Given the description of an element on the screen output the (x, y) to click on. 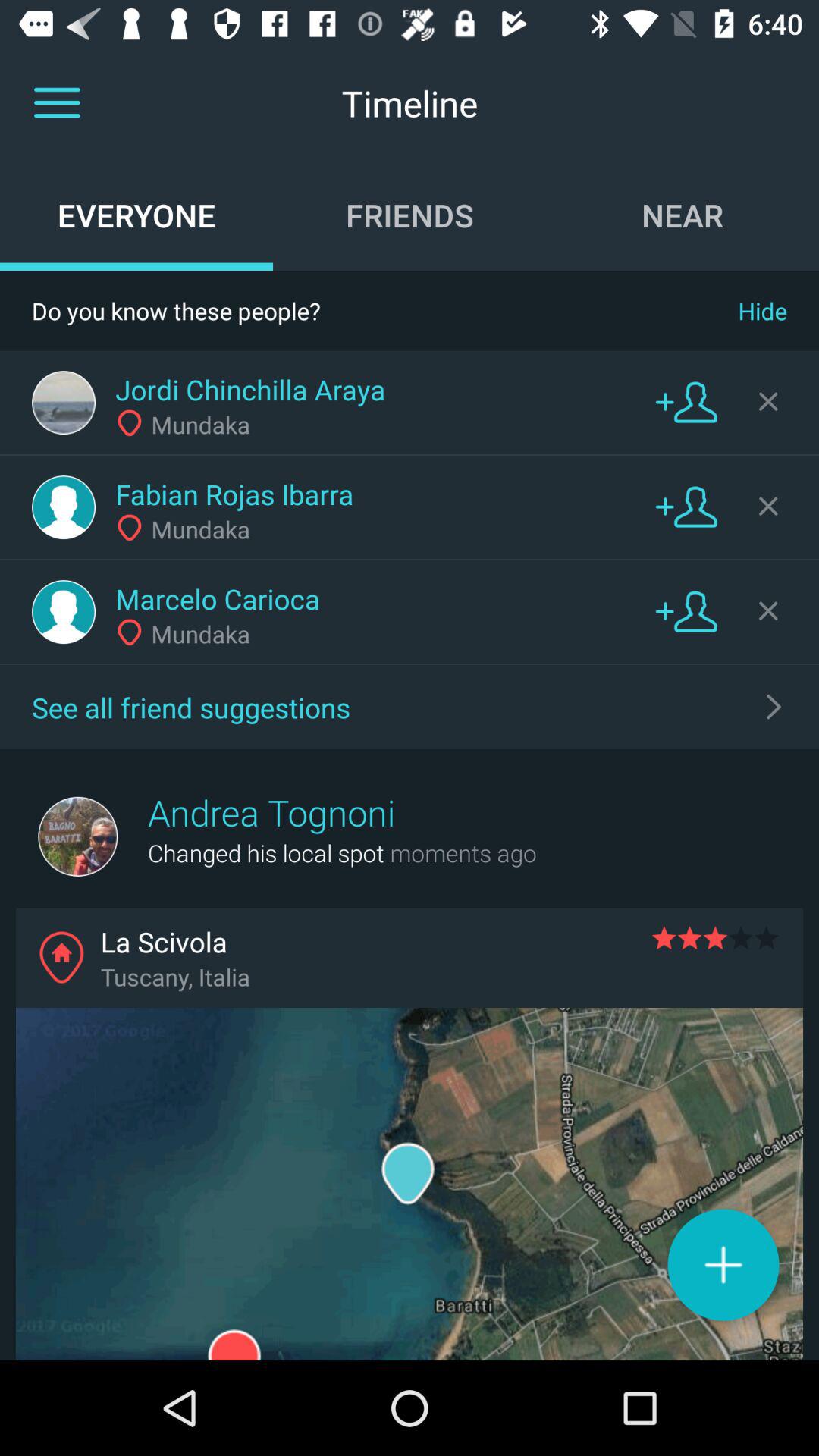
view profile picture (63, 611)
